Given the description of an element on the screen output the (x, y) to click on. 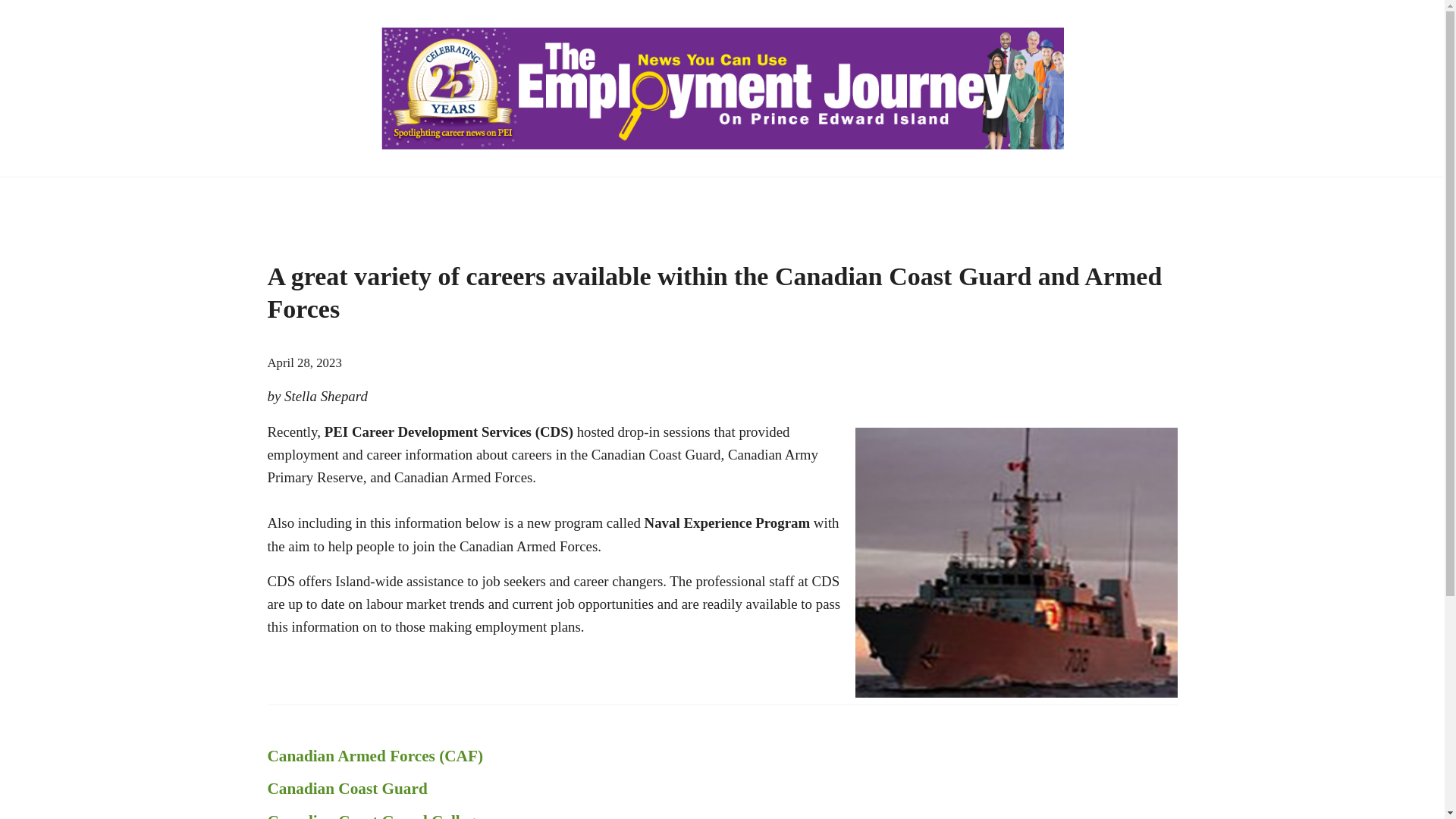
JOBS (437, 198)
NEWCOMERS (964, 198)
SELF-EMPLOYMENT (820, 198)
Canadian Coast Guard (721, 788)
NEWSPAPERS (332, 198)
DAILY NEWS (1081, 198)
